Given the description of an element on the screen output the (x, y) to click on. 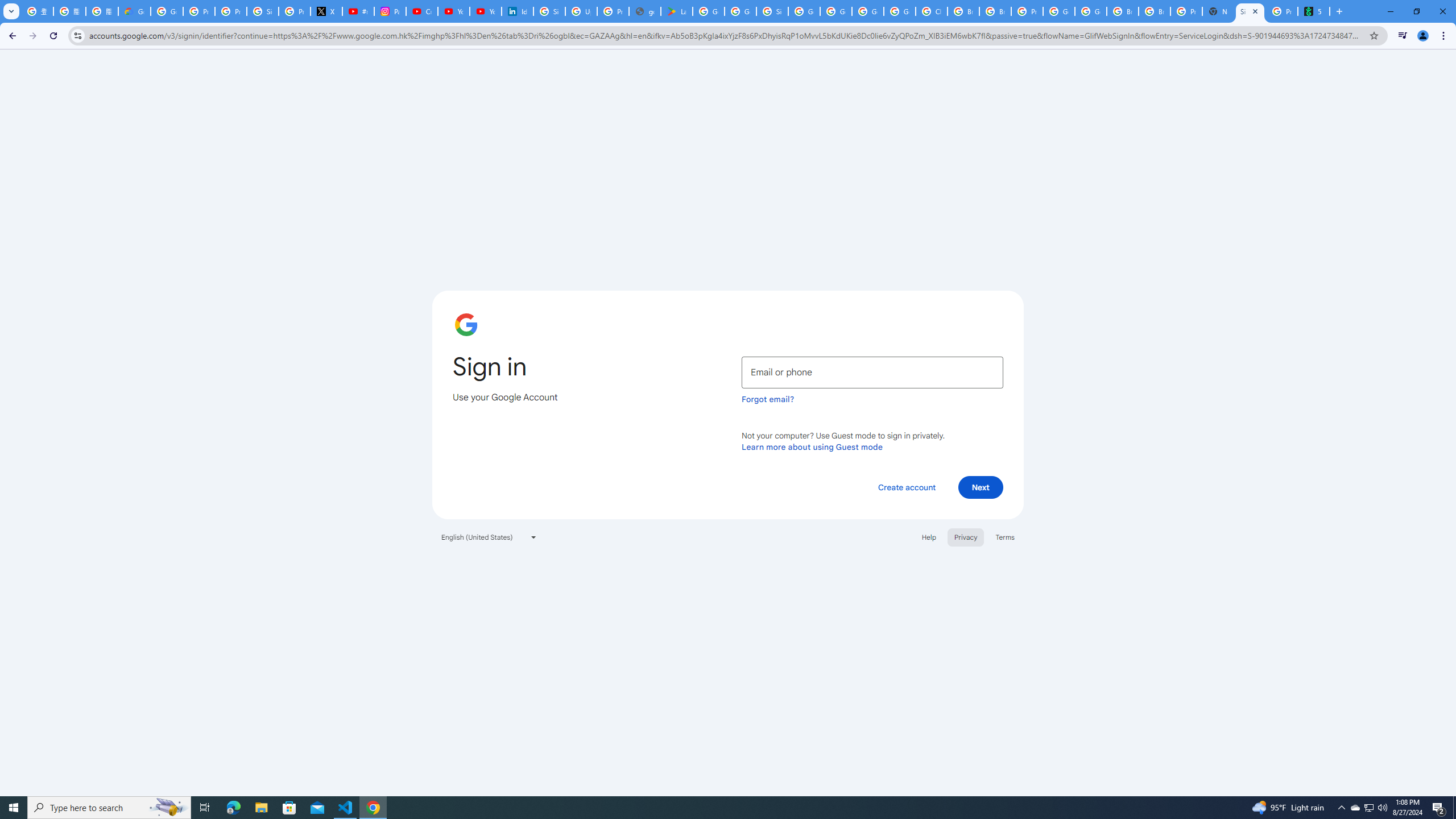
X (326, 11)
New Tab (1217, 11)
Privacy Help Center - Policies Help (230, 11)
Email or phone (872, 372)
Google Cloud Platform (868, 11)
